Given the description of an element on the screen output the (x, y) to click on. 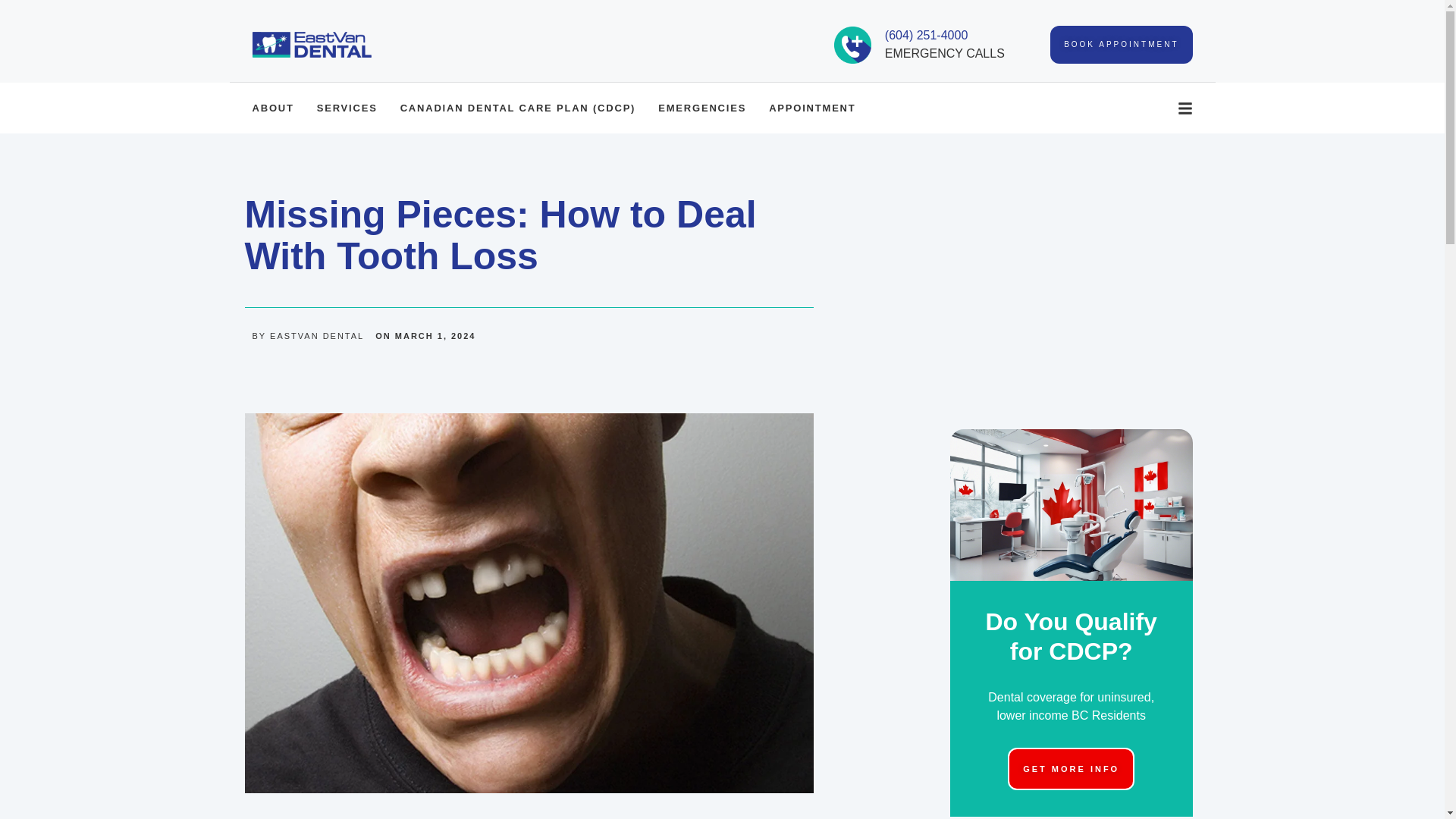
APPOINTMENT (812, 107)
SERVICES (347, 107)
EMERGENCIES (701, 107)
ABOUT (272, 107)
BOOK APPOINTMENT (1120, 44)
